Given the description of an element on the screen output the (x, y) to click on. 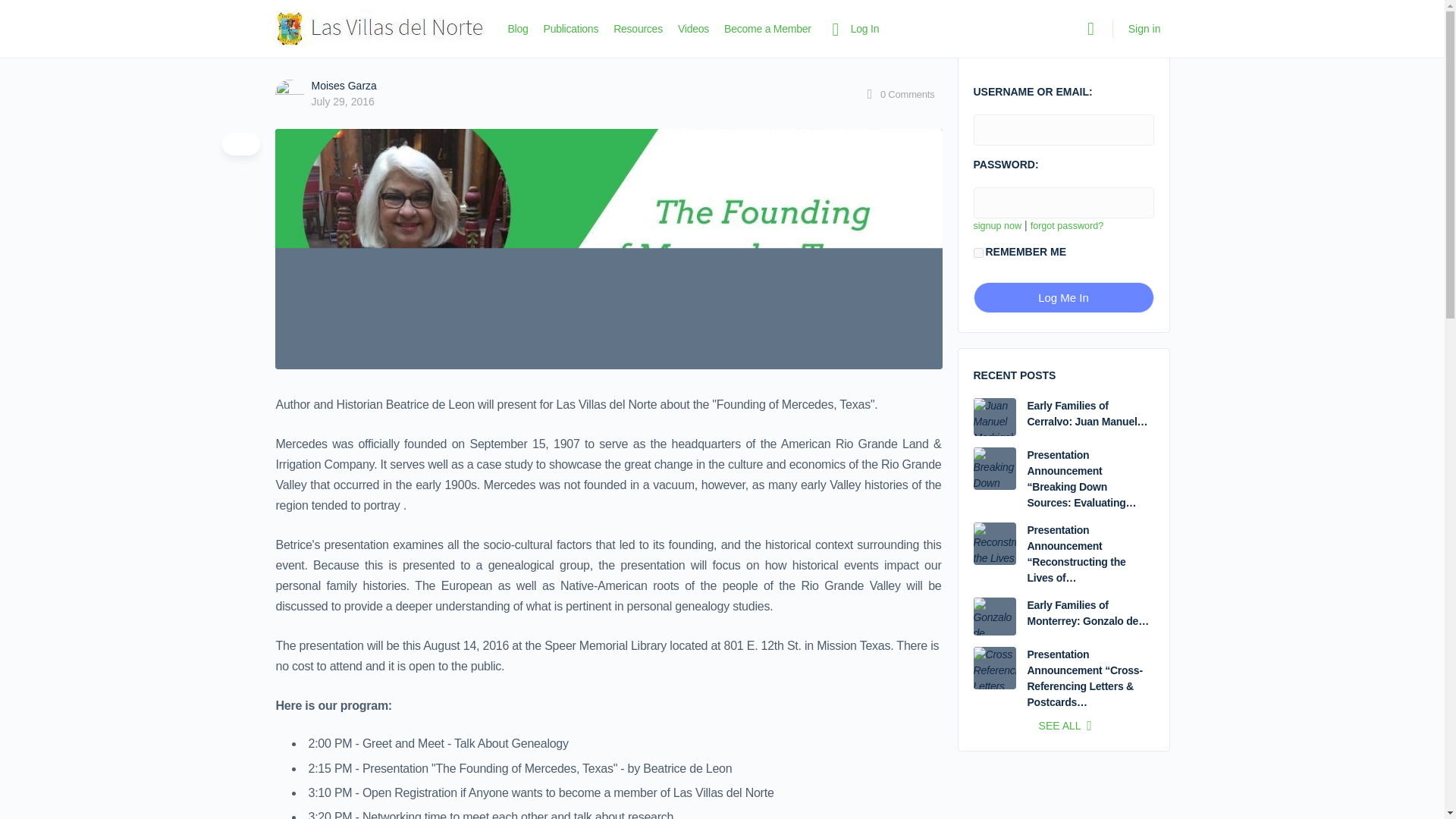
Log In (853, 28)
Sign in (1144, 28)
forever (979, 252)
Username (1064, 129)
Become a Member (766, 28)
0 Comments (899, 94)
Password (1064, 202)
Log Me In (1064, 296)
July 29, 2016 (342, 101)
Moises Garza (343, 85)
Publications (570, 28)
